Given the description of an element on the screen output the (x, y) to click on. 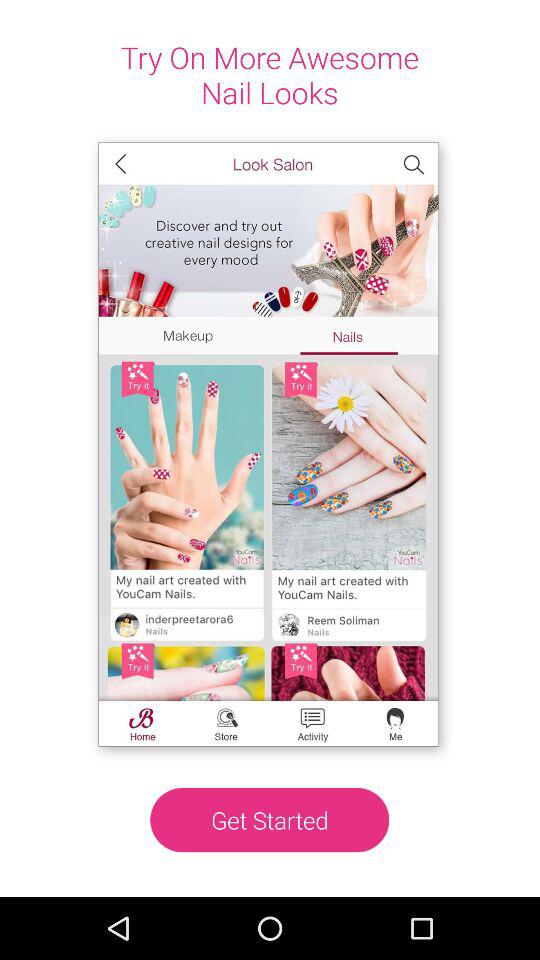
swipe until the get started (269, 819)
